Given the description of an element on the screen output the (x, y) to click on. 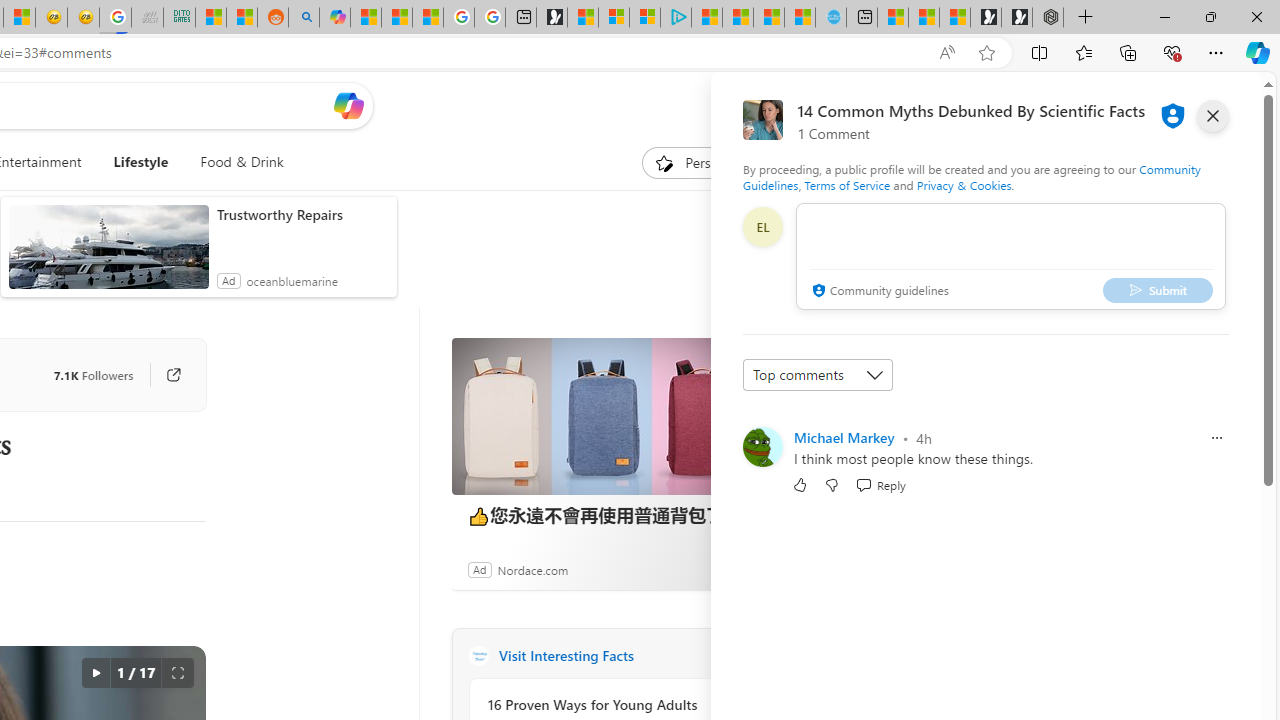
Report comment (1216, 437)
Home | Sky Blue Bikes - Sky Blue Bikes (830, 17)
Interesting Facts (478, 655)
Open settings (1216, 105)
Like (799, 484)
Full screen (177, 673)
Lifestyle (140, 162)
Community guidelines (878, 291)
